Given the description of an element on the screen output the (x, y) to click on. 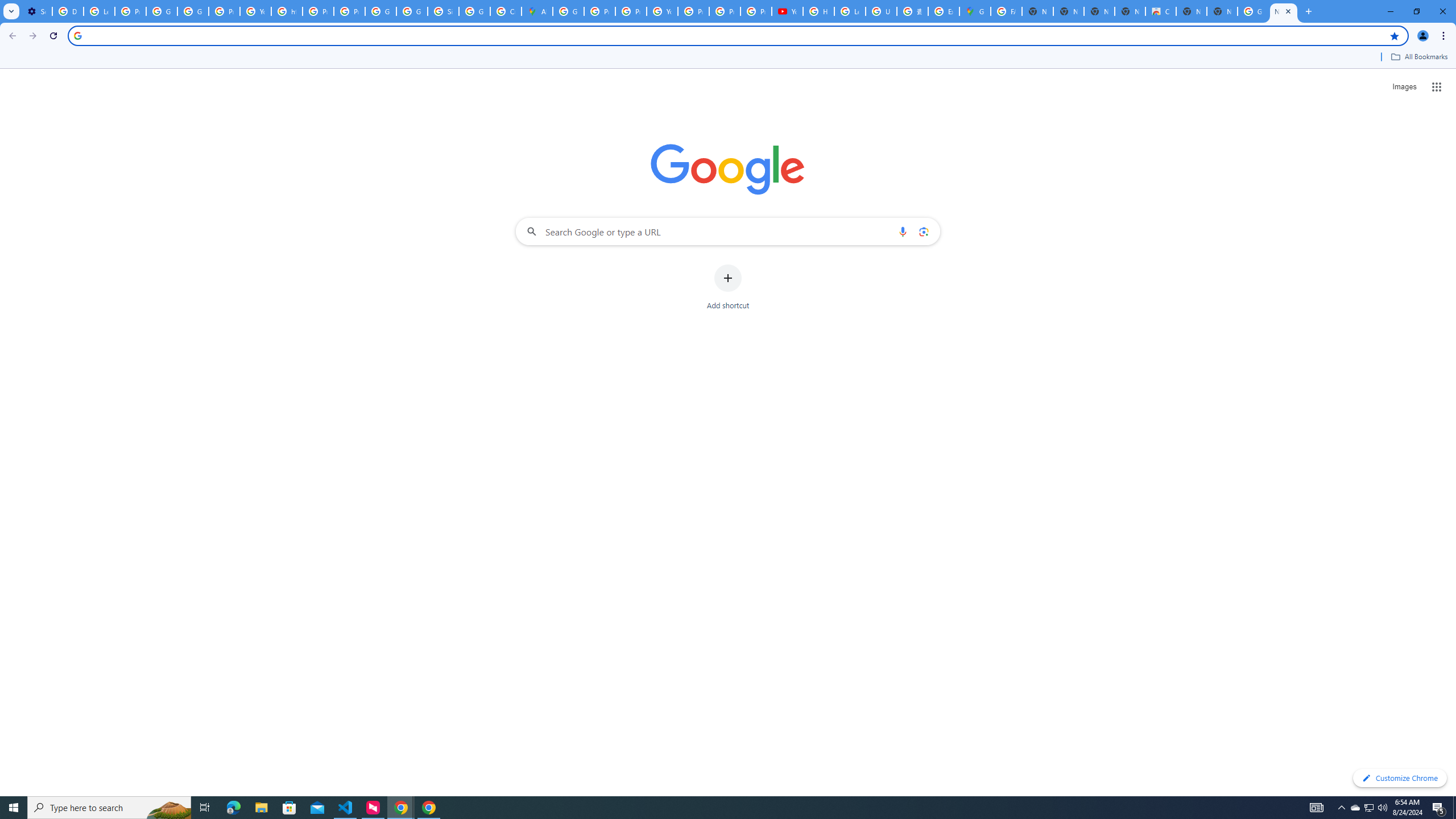
Settings - On startup (36, 11)
Search by voice (902, 230)
Privacy Checkup (756, 11)
Google Account Help (192, 11)
YouTube (255, 11)
